Given the description of an element on the screen output the (x, y) to click on. 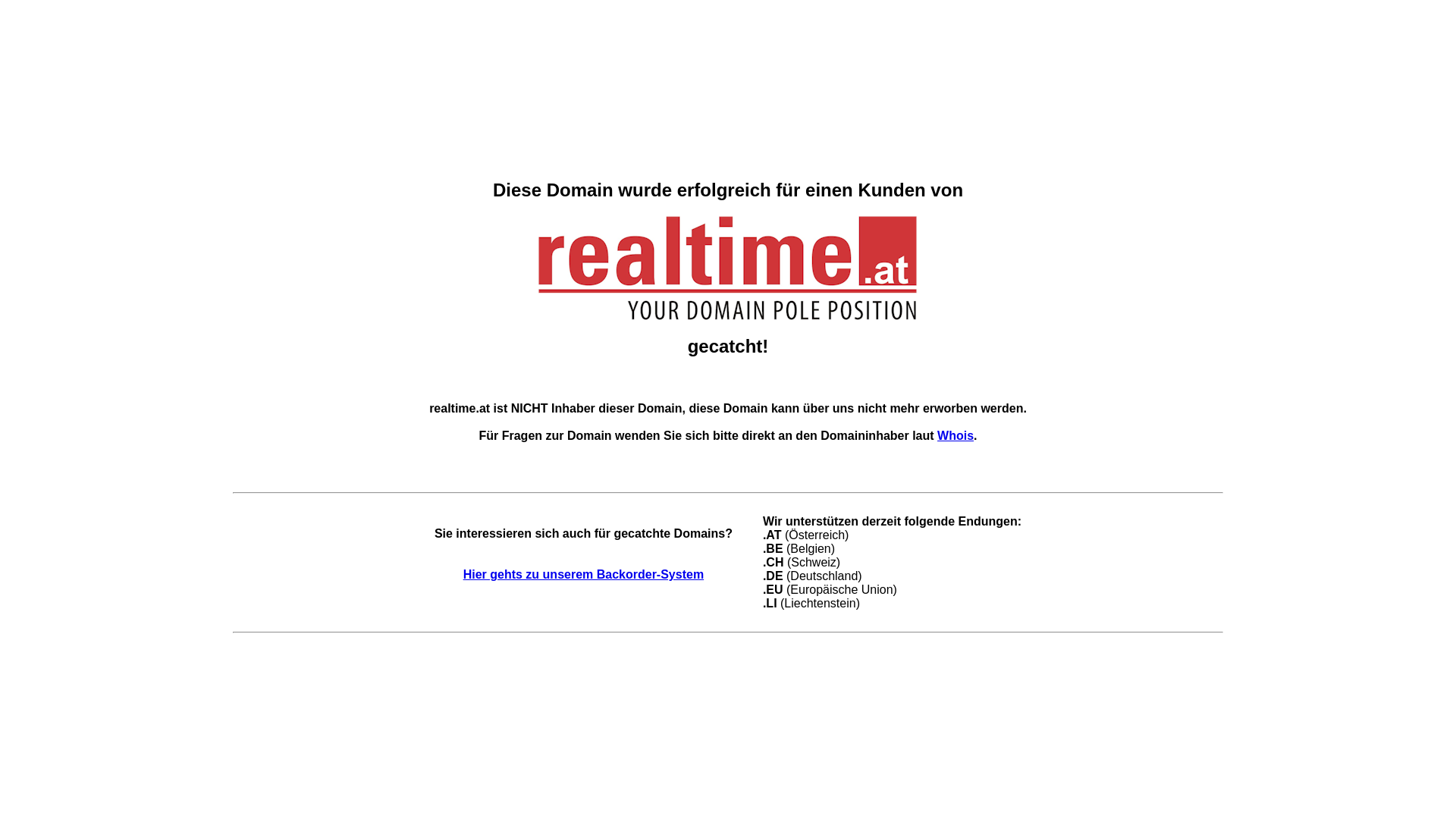
Hier gehts zu unserem Backorder-System Element type: text (583, 573)
Whois Element type: text (955, 435)
